Given the description of an element on the screen output the (x, y) to click on. 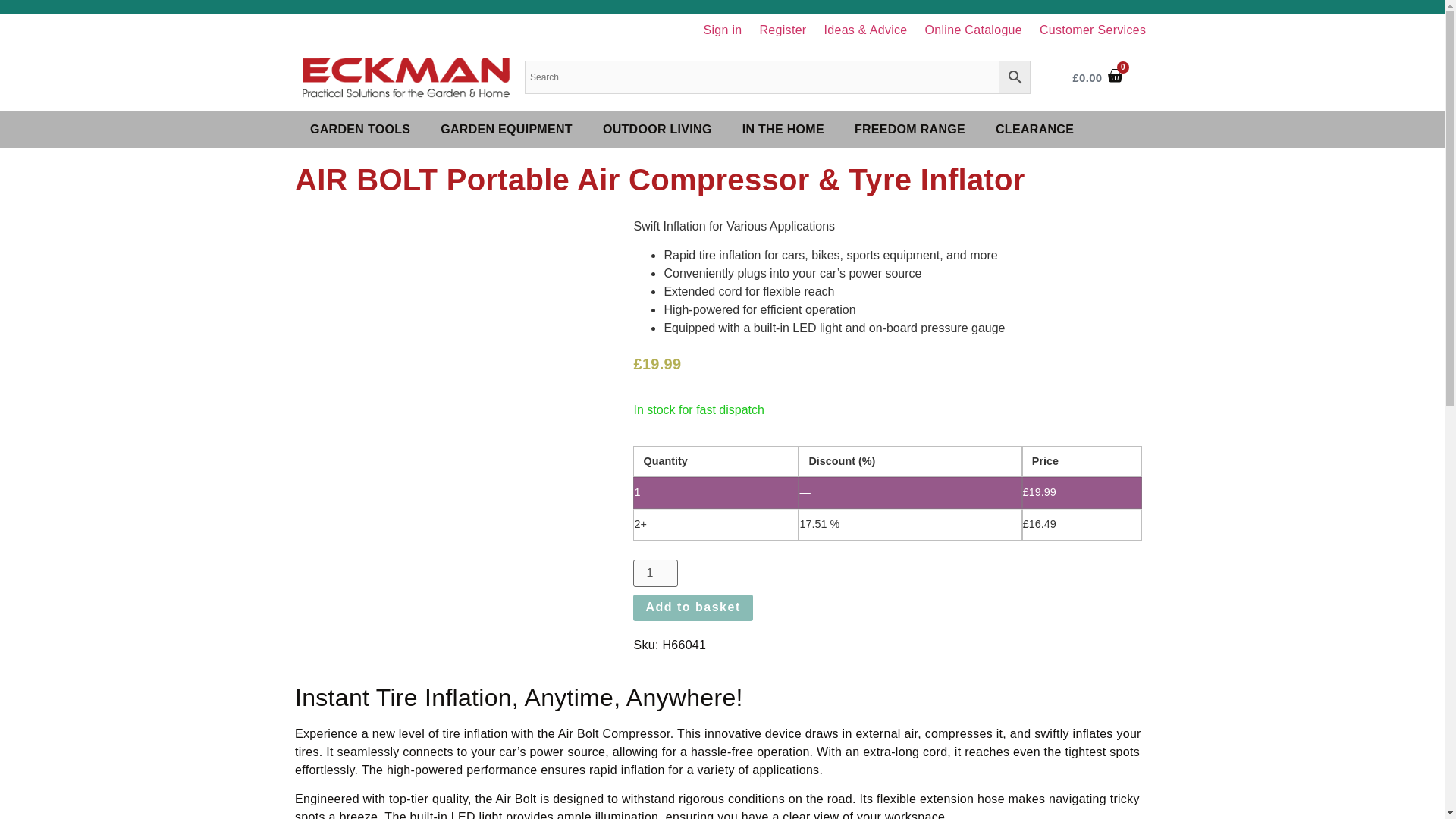
OUTDOOR LIVING (657, 129)
IN THE HOME (783, 129)
1 (655, 573)
GARDEN EQUIPMENT (506, 129)
Customer Services  (1094, 29)
Online Catalogue (973, 29)
Register (783, 29)
GARDEN TOOLS (360, 129)
Sign in (722, 29)
